Given the description of an element on the screen output the (x, y) to click on. 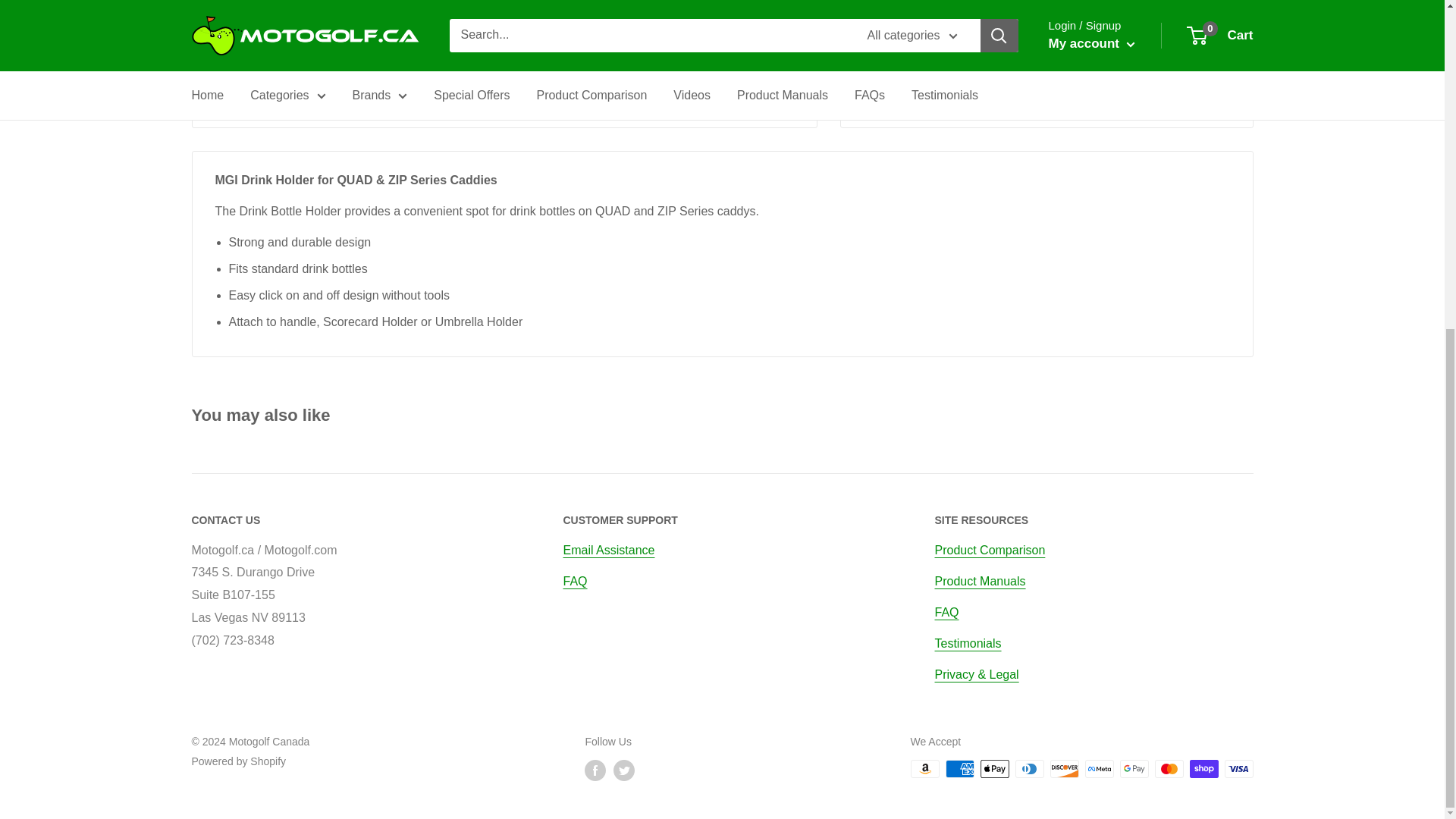
Contact Us (607, 549)
FAQ (946, 612)
Testimonials (967, 643)
Product Manuals (979, 581)
Product Comparison (989, 549)
FAQ (574, 581)
